Given the description of an element on the screen output the (x, y) to click on. 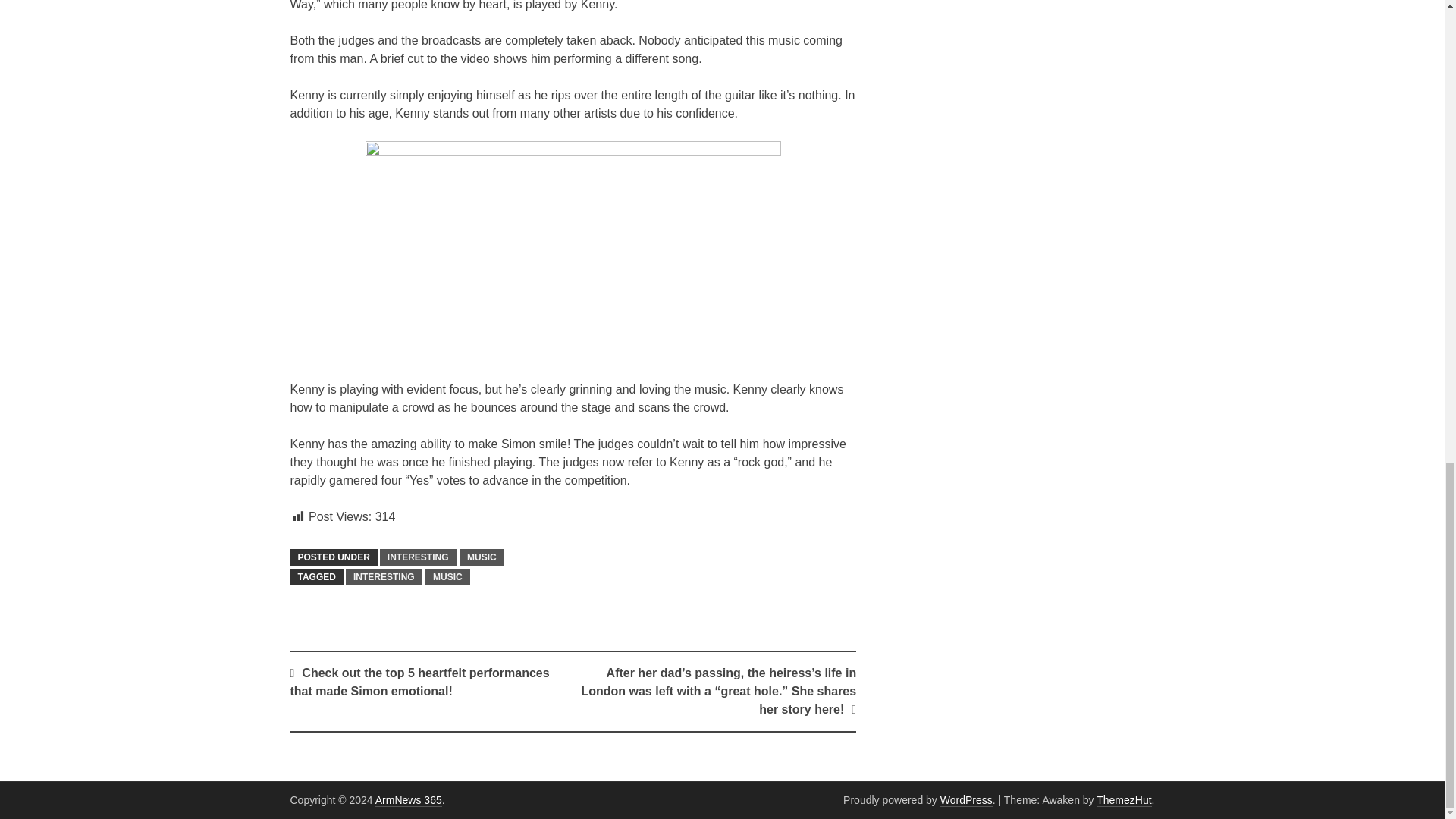
INTERESTING (418, 556)
WordPress (966, 799)
ArmNews 365 (408, 799)
MUSIC (447, 576)
WordPress (966, 799)
ArmNews 365 (408, 799)
MUSIC (481, 556)
ThemezHut (1123, 799)
INTERESTING (384, 576)
